Given the description of an element on the screen output the (x, y) to click on. 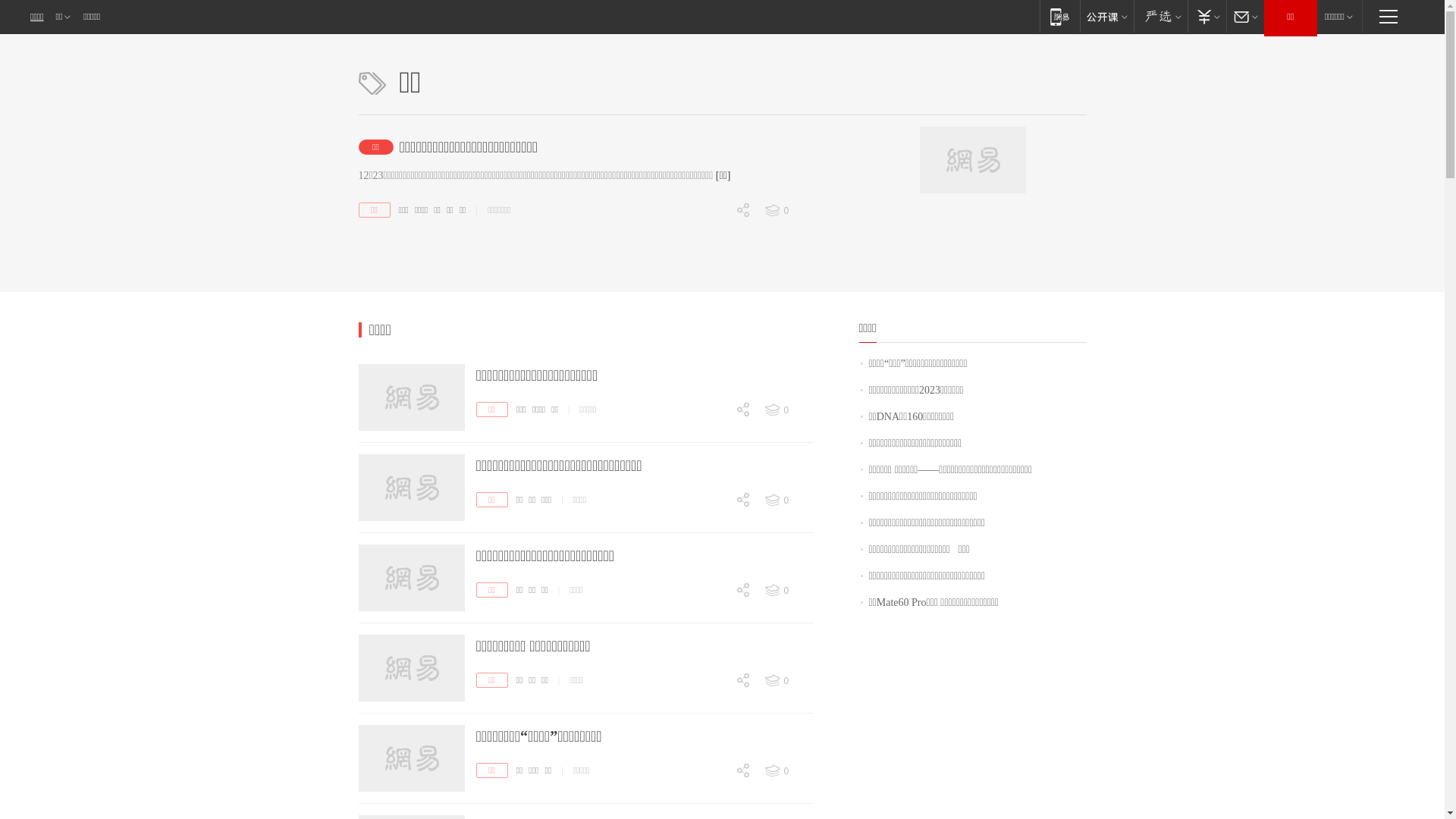
0 Element type: text (712, 797)
0 Element type: text (712, 489)
0 Element type: text (712, 605)
0 Element type: text (712, 616)
0 Element type: text (787, 210)
0 Element type: text (712, 236)
0 Element type: text (712, 515)
0 Element type: text (712, 669)
0 Element type: text (787, 409)
0 Element type: text (712, 579)
0 Element type: text (787, 770)
0 Element type: text (712, 526)
0 Element type: text (712, 706)
0 Element type: text (712, 696)
0 Element type: text (712, 316)
0 Element type: text (712, 289)
0 Element type: text (712, 759)
0 Element type: text (787, 500)
0 Element type: text (787, 590)
0 Element type: text (712, 436)
0 Element type: text (712, 786)
0 Element type: text (787, 680)
